Given the description of an element on the screen output the (x, y) to click on. 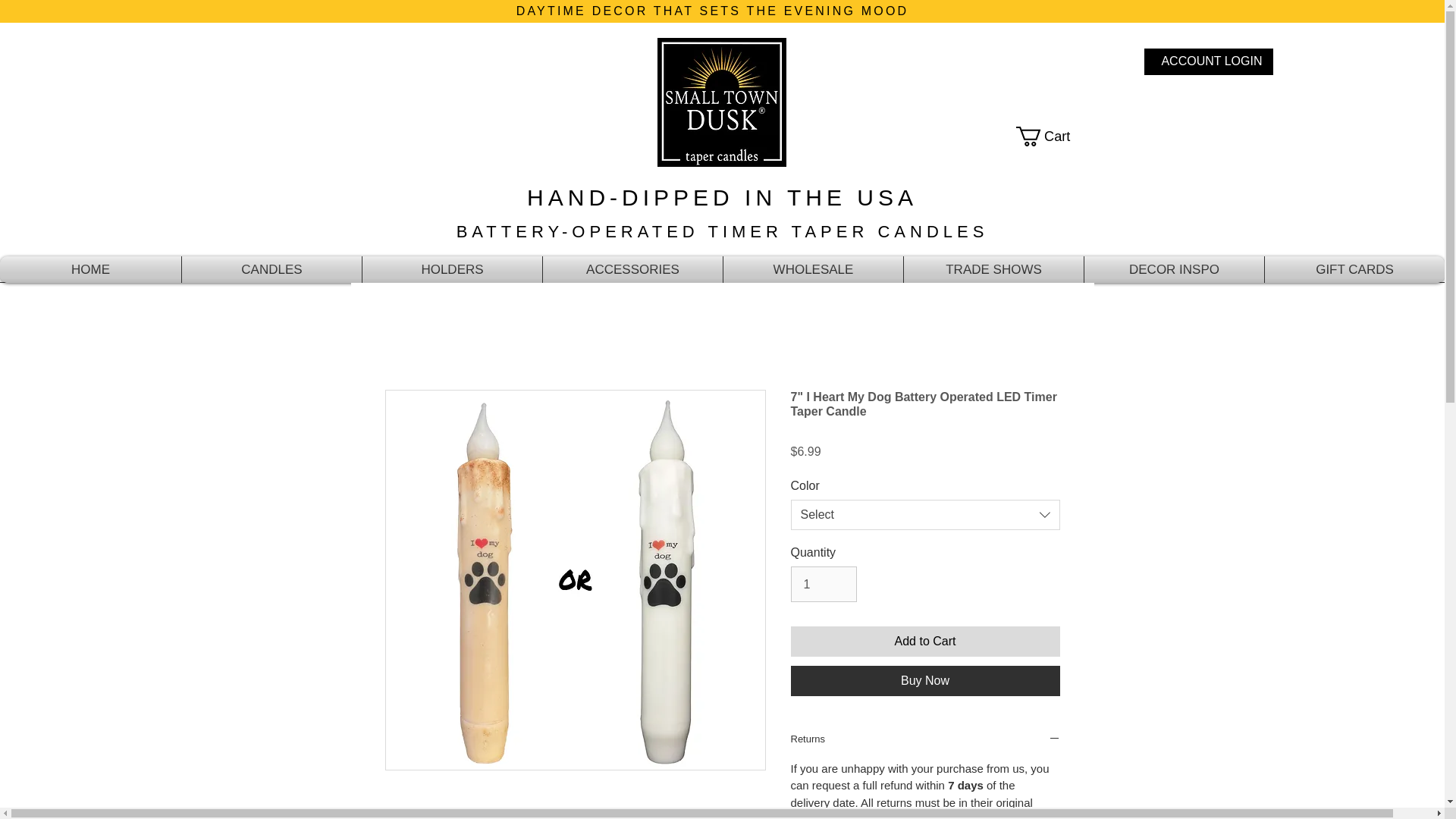
ACCESSORIES (632, 269)
Returns (924, 739)
TRADE SHOWS (993, 269)
1 (823, 583)
Cart (1054, 136)
Cart (1054, 136)
ACCOUNT LOGIN (1211, 61)
CANDLES (271, 269)
WHOLESALE (812, 269)
DECOR INSPO (1173, 269)
